Given the description of an element on the screen output the (x, y) to click on. 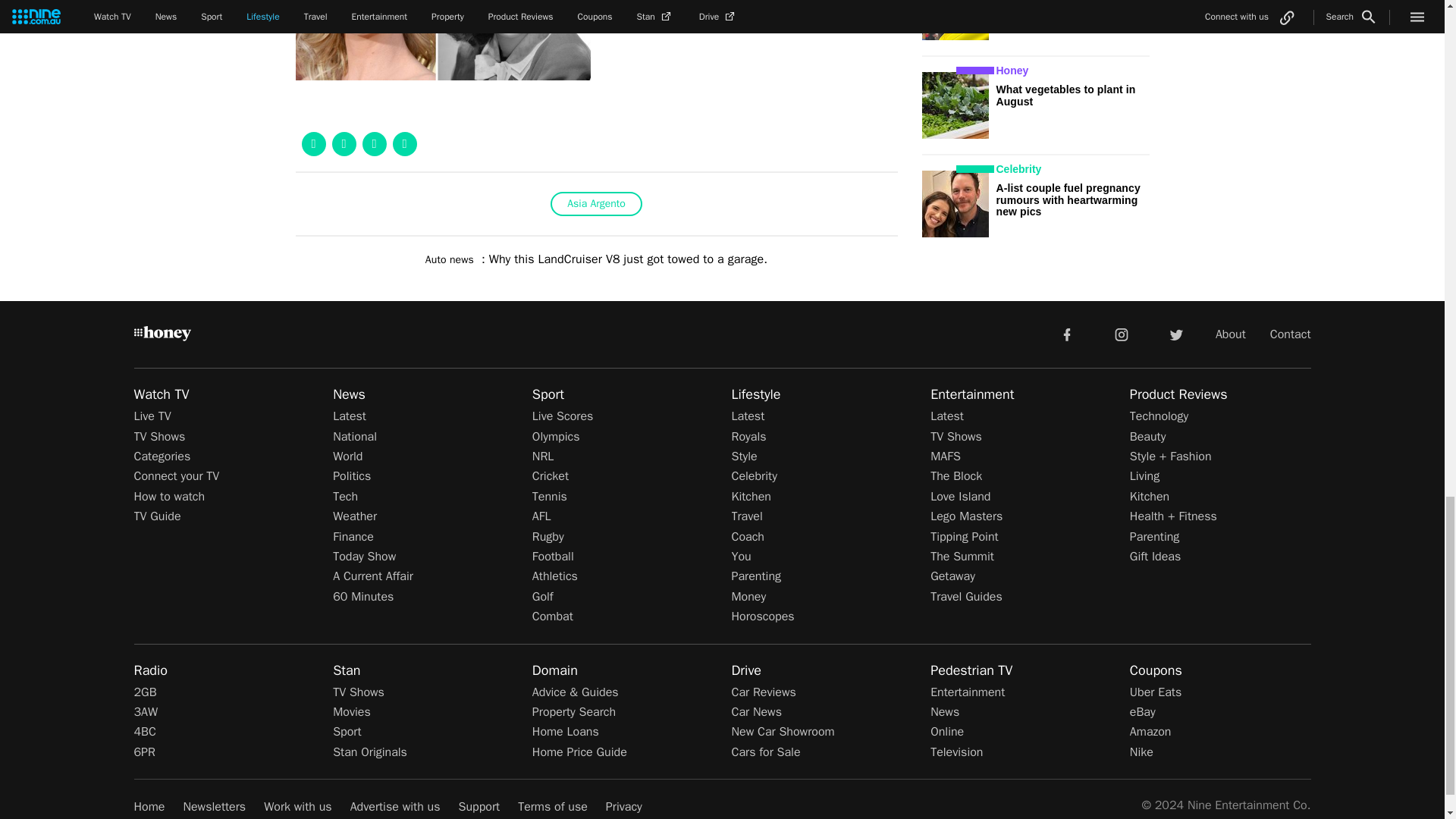
instagram (1121, 333)
facebook (1066, 333)
twitter (1175, 333)
